Given the description of an element on the screen output the (x, y) to click on. 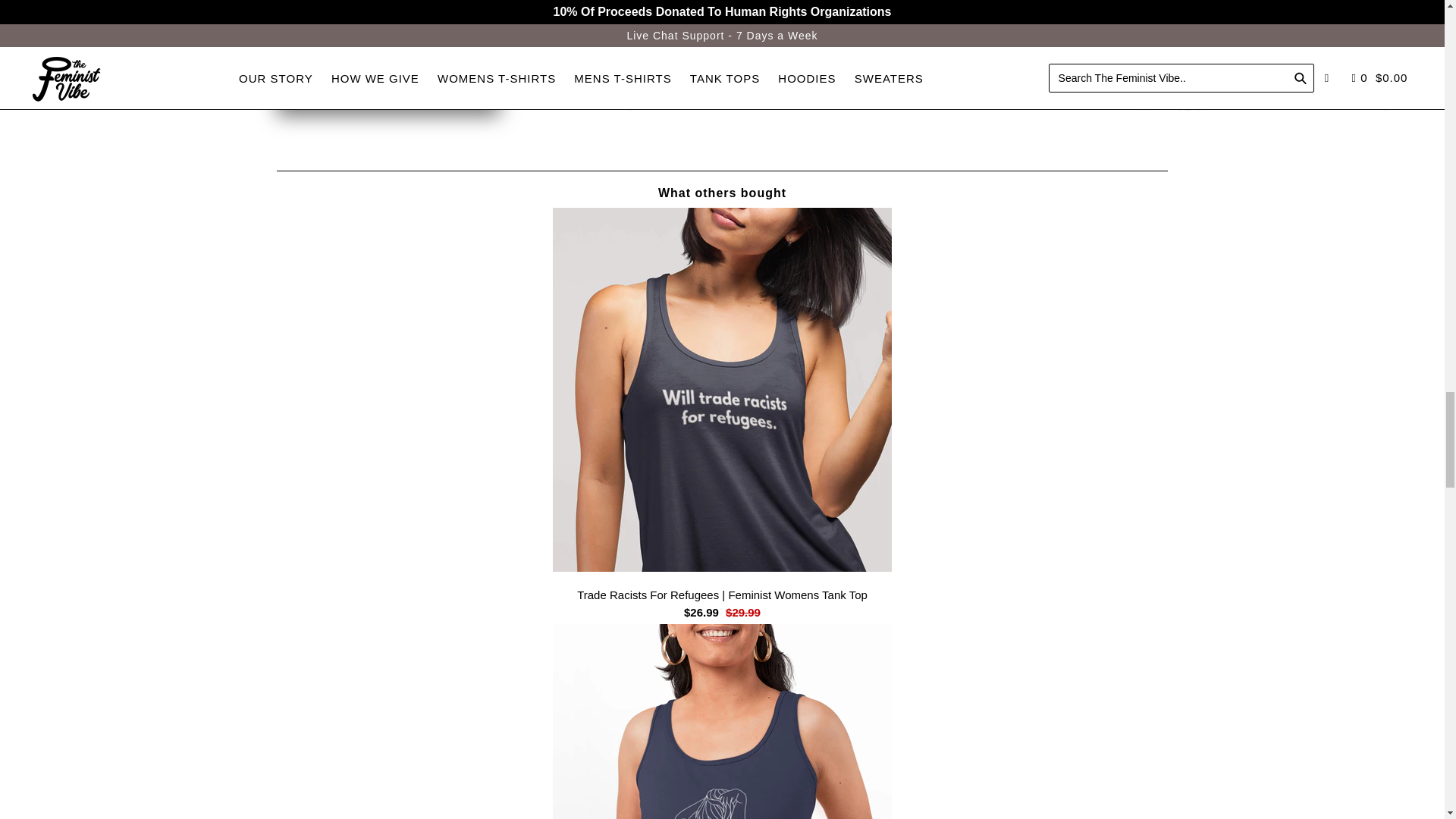
SHOP NOW (387, 90)
